Given the description of an element on the screen output the (x, y) to click on. 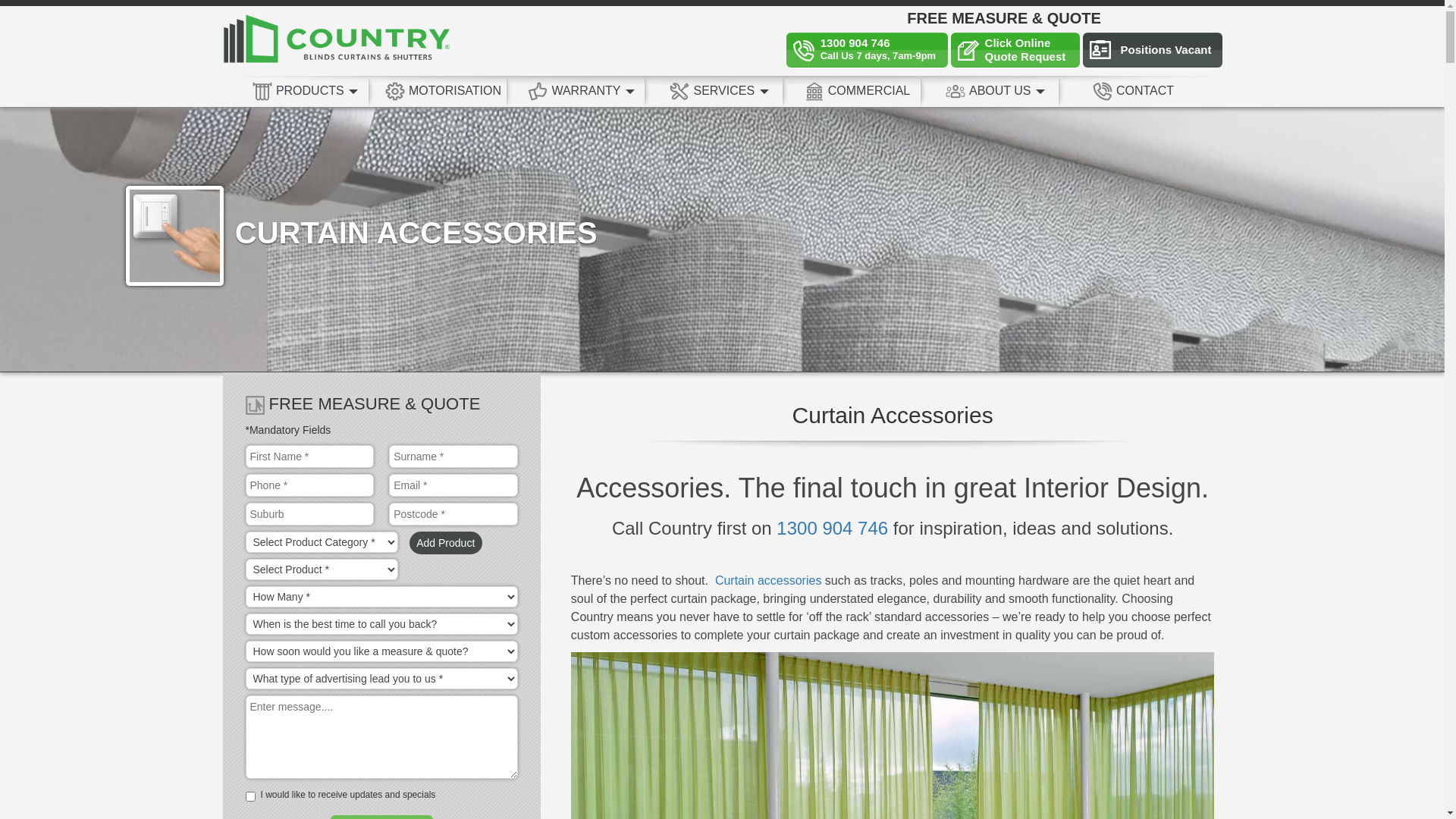
1300 904 746 Element type: text (832, 527)
Add Product Element type: text (445, 542)
Curtain accessories Element type: text (768, 580)
COMMERCIAL Element type: text (857, 90)
MOTORISATION Element type: text (443, 90)
CONTACT Element type: text (1133, 90)
PRODUCTS Element type: text (305, 90)
SERVICES Element type: text (719, 90)
Positions Vacant Element type: text (1152, 49)
ABOUT US Element type: text (995, 90)
Click Online
Quote Request Element type: text (1014, 49)
1300 904 746
Call Us 7 days, 7am-9pm Element type: text (866, 49)
WARRANTY Element type: text (581, 90)
